Given the description of an element on the screen output the (x, y) to click on. 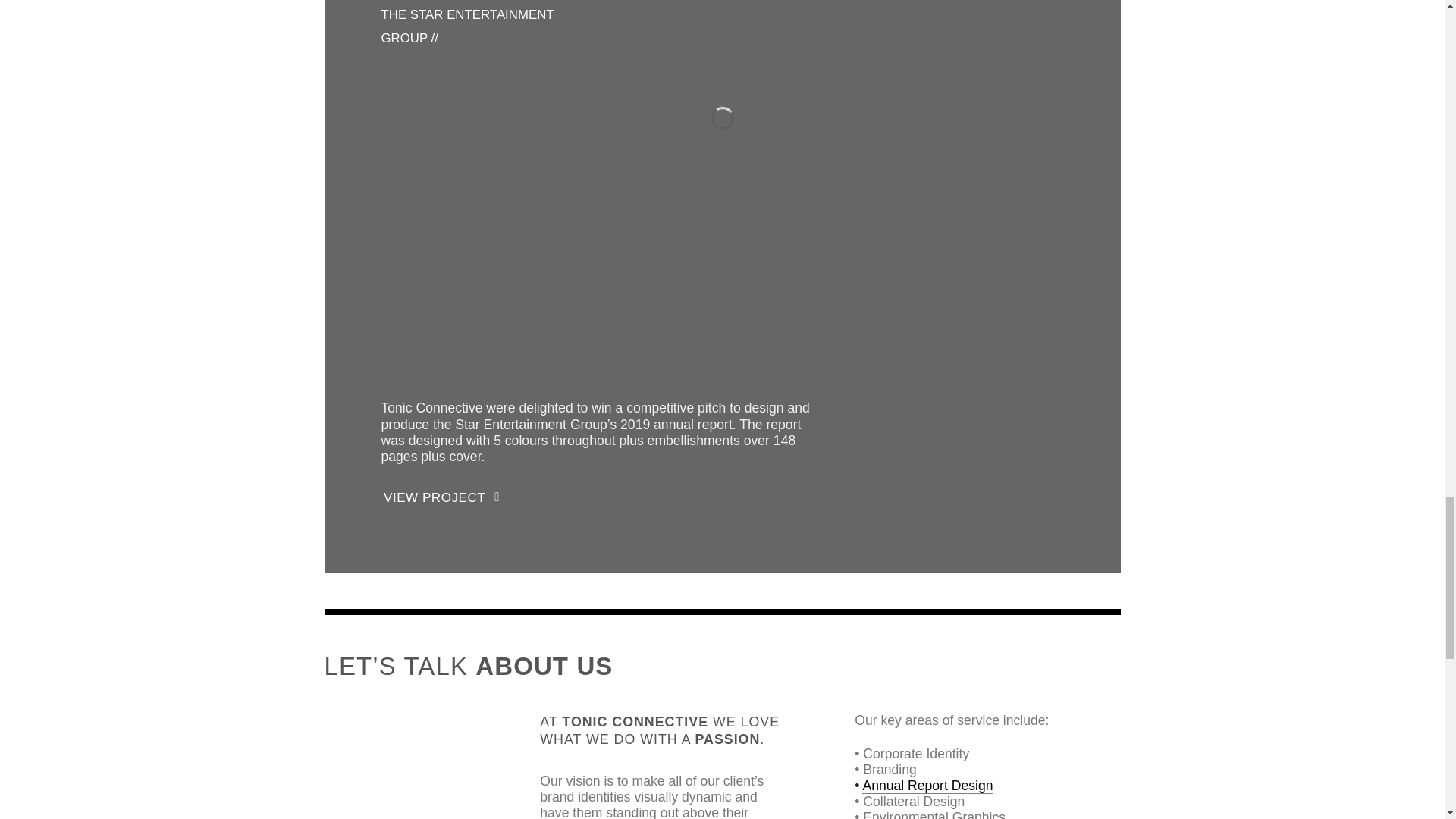
VIEW PROJECT (440, 498)
VIEW PROJECT (1149, 219)
Annual Report Design (926, 785)
